Given the description of an element on the screen output the (x, y) to click on. 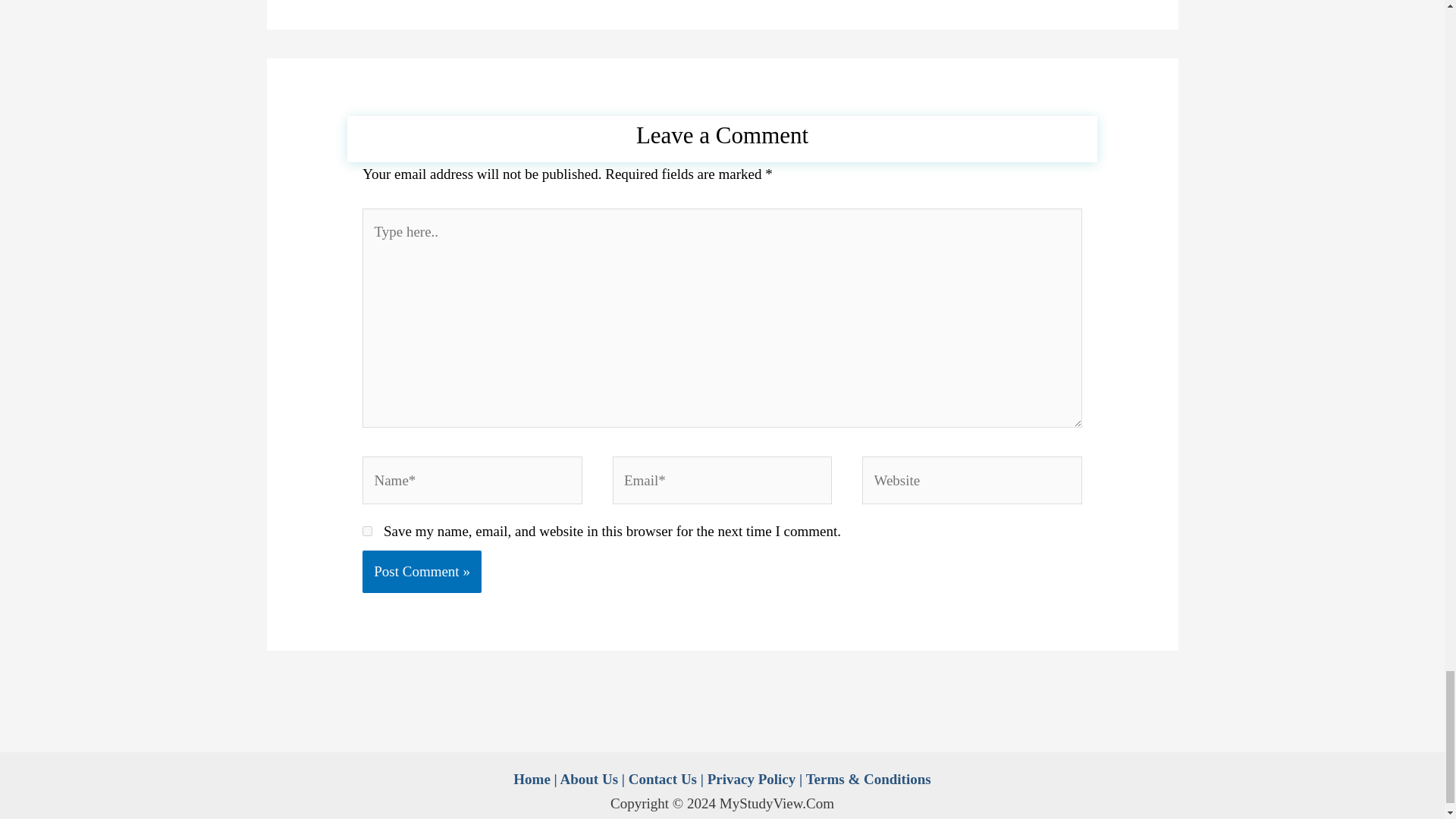
Home (531, 779)
About Us (588, 779)
yes (367, 531)
Privacy Policy (751, 779)
Contact Us (662, 779)
